Given the description of an element on the screen output the (x, y) to click on. 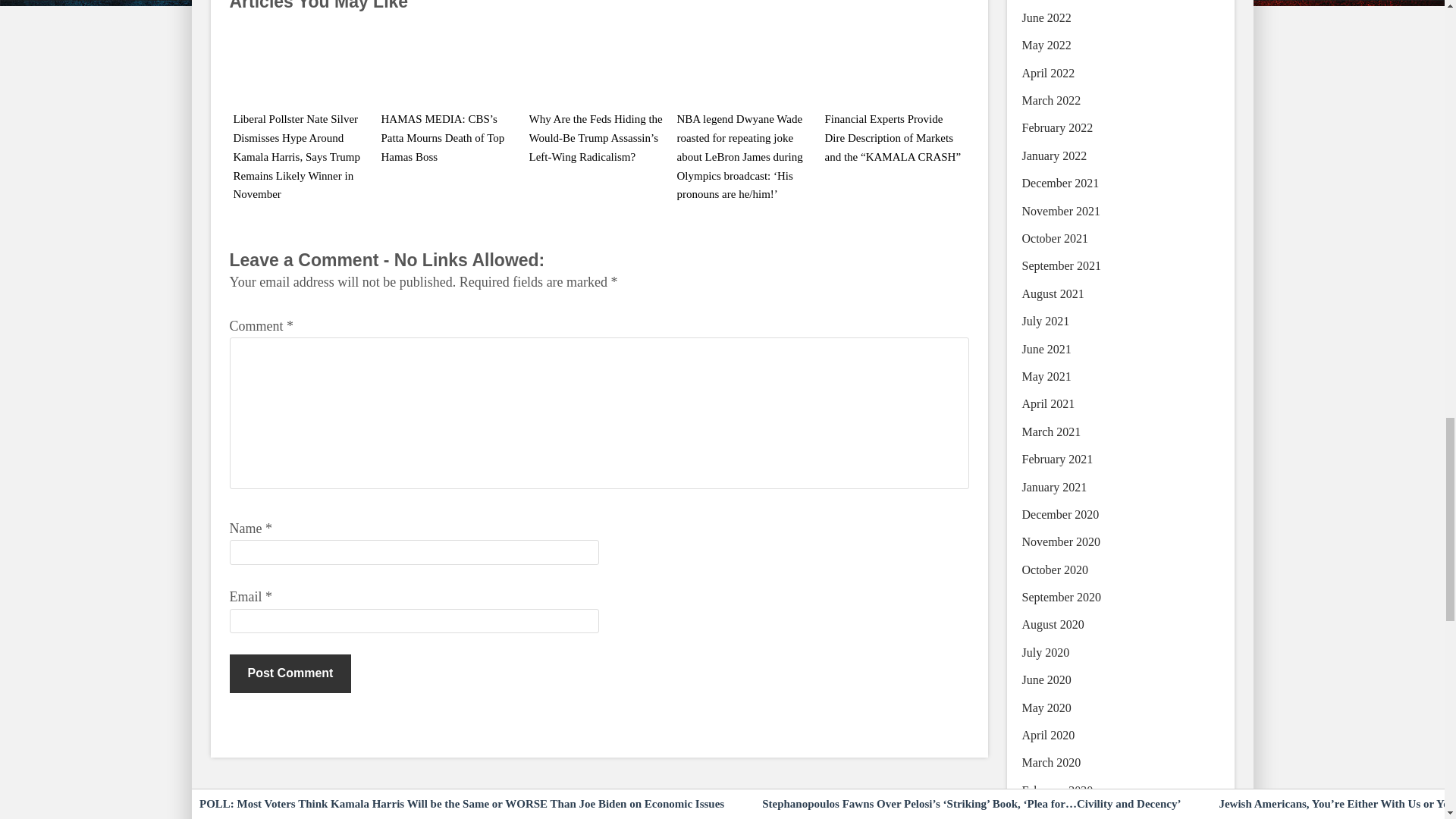
Post Comment (289, 673)
